Given the description of an element on the screen output the (x, y) to click on. 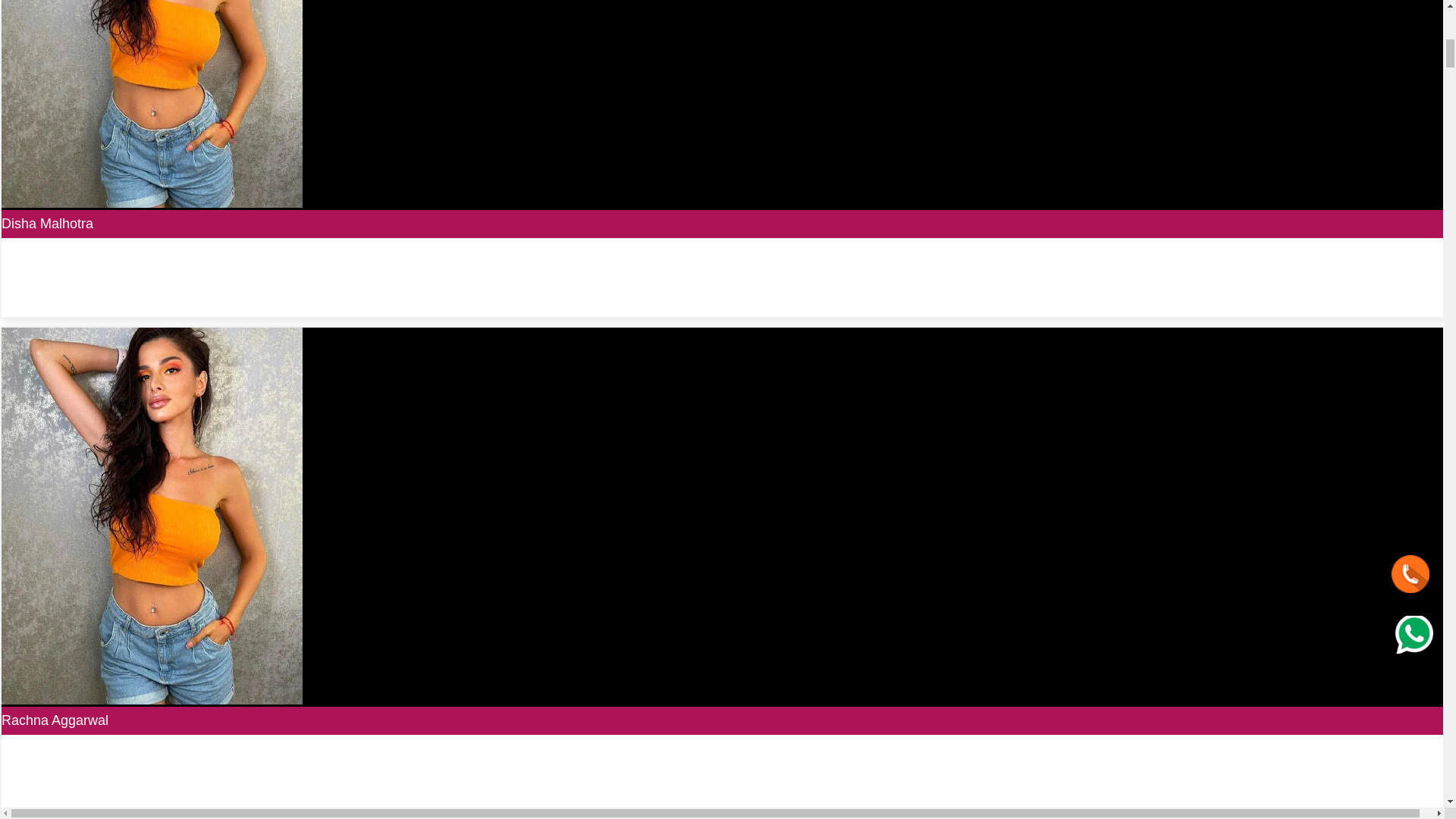
Rachna Aggarwal (54, 720)
Disha Malhotra (47, 223)
